Given the description of an element on the screen output the (x, y) to click on. 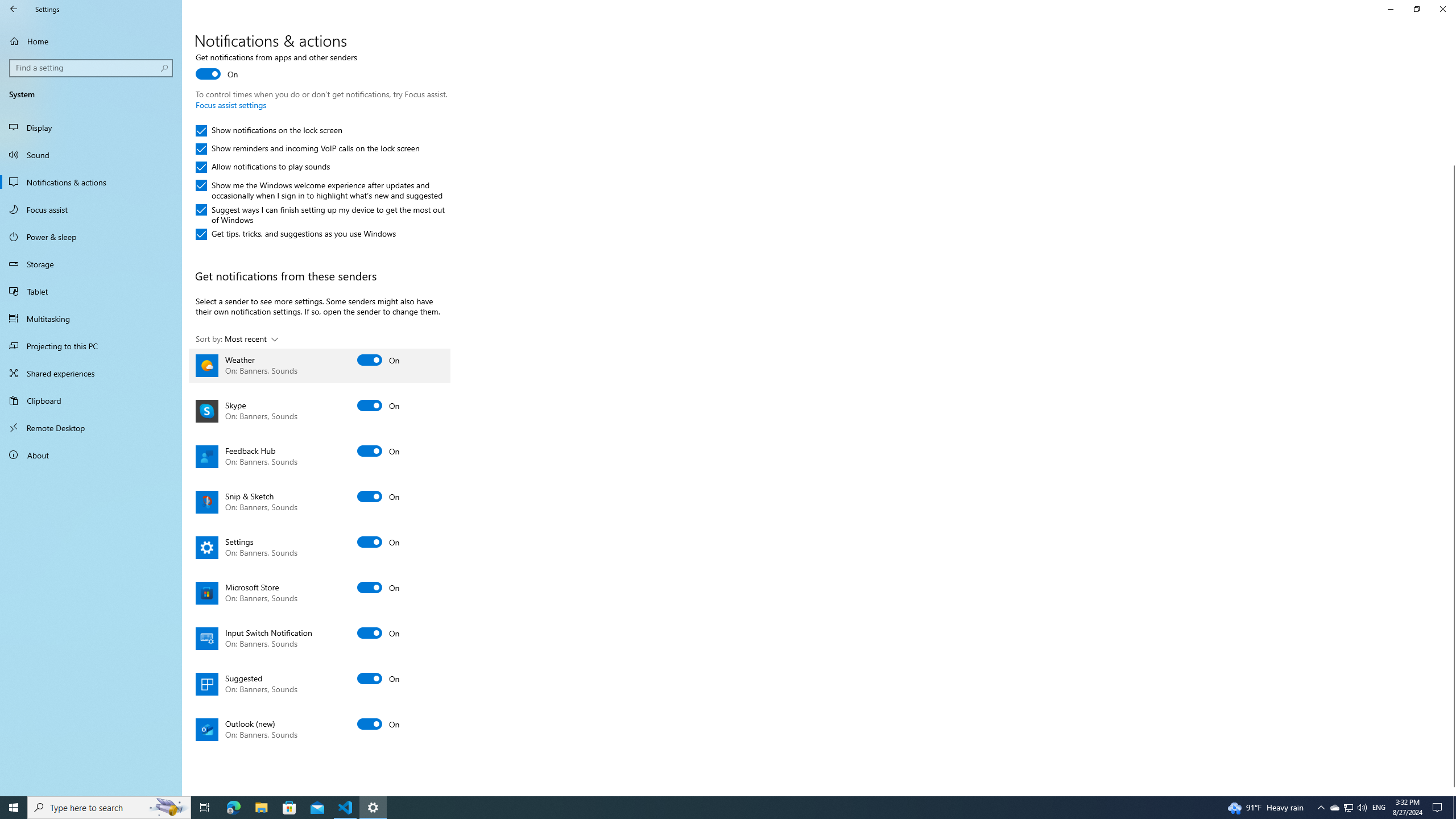
Focus assist (91, 208)
Get help (1338, 5)
Sort by: Most recent (237, 339)
Settings - 1 running window (373, 807)
User Promoted Notification Area (1347, 807)
Visual Studio Code - 1 running window (345, 807)
Tray Input Indicator - English (United States) (1378, 807)
Start (13, 807)
Microsoft Store (319, 592)
Remote Desktop (91, 427)
Shared experiences (91, 372)
Back (13, 9)
Edit your quick actions (235, 1)
